Given the description of an element on the screen output the (x, y) to click on. 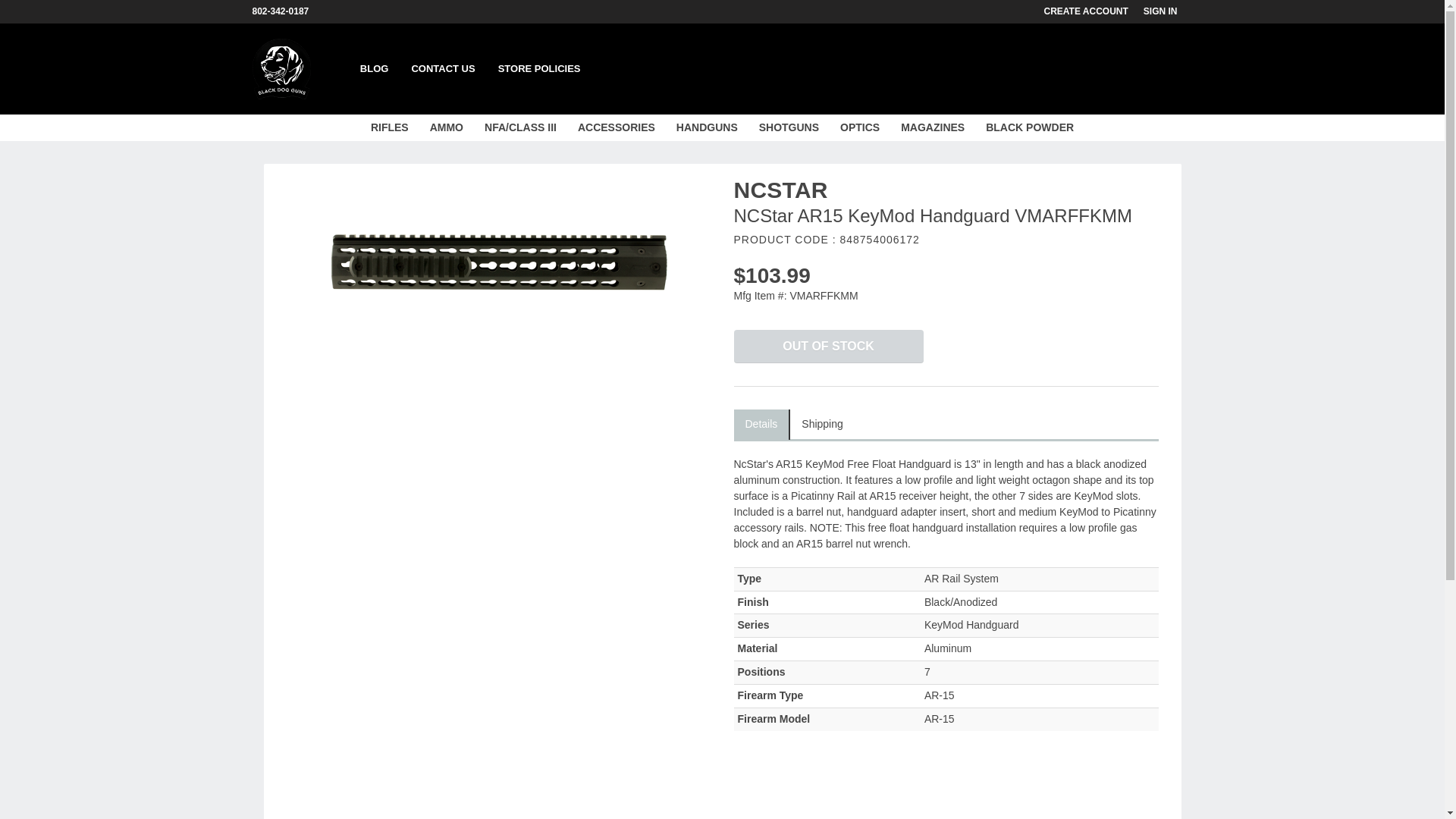
RIFLES (389, 127)
AMMO (446, 127)
CONTACT US (442, 68)
CREATE ACCOUNT (1092, 11)
SIGN IN (1167, 11)
STORE POLICIES (539, 68)
802-342-0187 (287, 11)
